Given the description of an element on the screen output the (x, y) to click on. 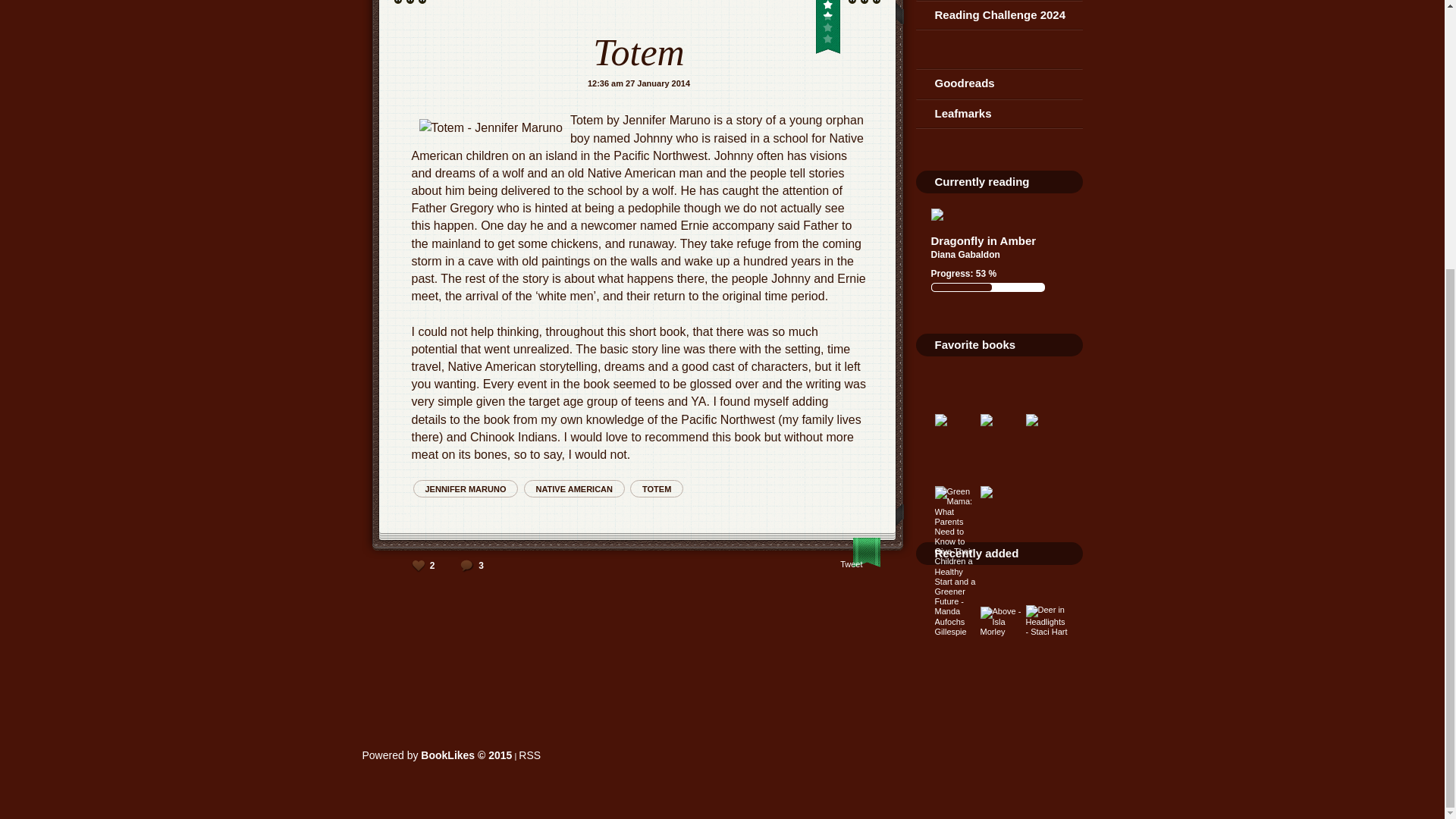
Leafmarks (999, 113)
Tweet (850, 563)
Recently added (975, 553)
Goodreads (999, 82)
TOTEM (656, 488)
Currently reading (981, 181)
Favorite books (974, 344)
BookLikes (529, 755)
NATIVE AMERICAN (574, 488)
JENNIFER MARUNO (465, 488)
